Given the description of an element on the screen output the (x, y) to click on. 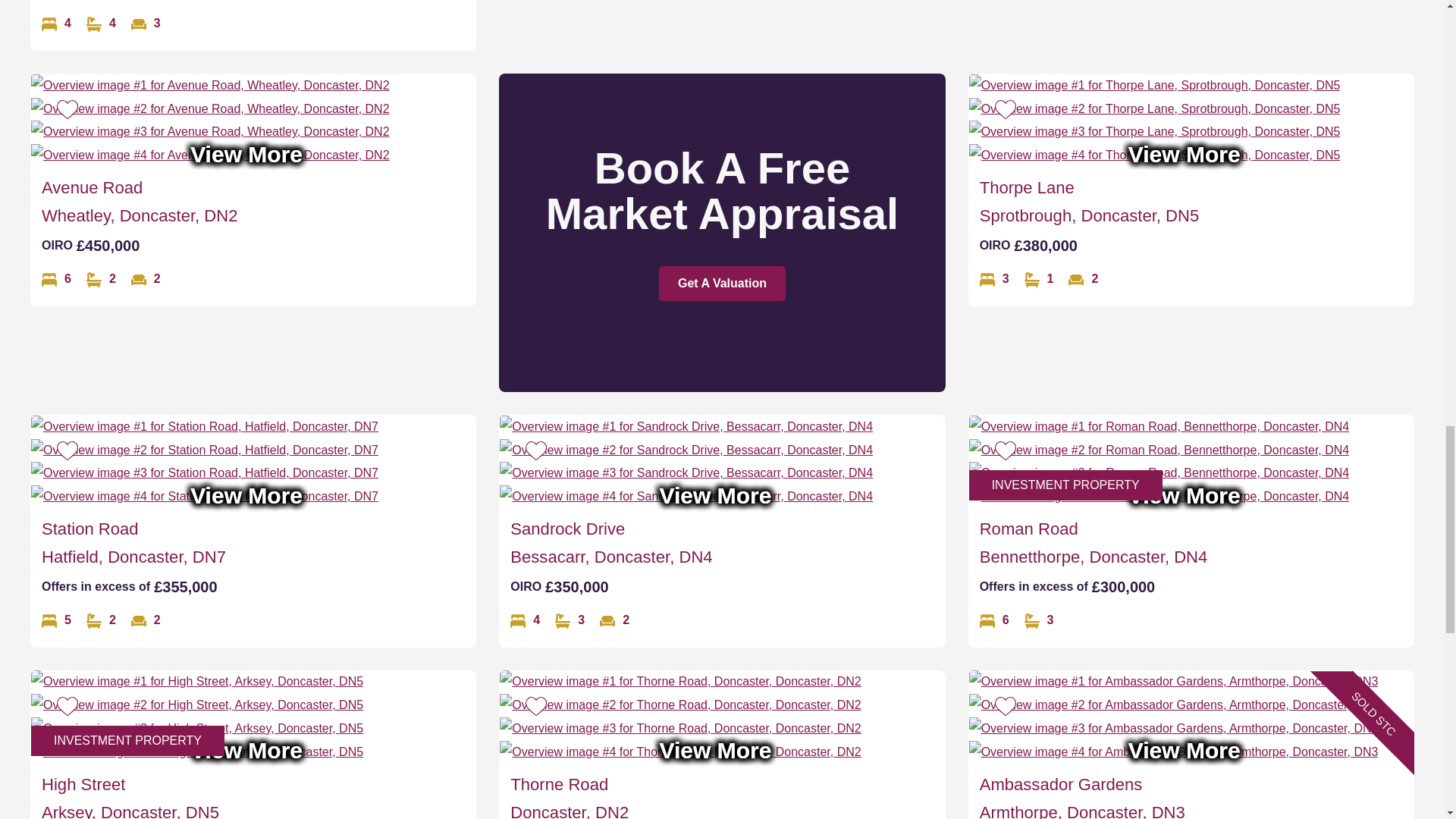
Public Rooms (1082, 279)
Public Rooms (145, 23)
Bathrooms (100, 620)
Public Rooms (145, 620)
Bedrooms (56, 620)
Public Rooms (145, 279)
Bedrooms (56, 23)
Bedrooms (525, 620)
Bathrooms (100, 23)
Bedrooms (56, 279)
Bathrooms (1039, 279)
Bedrooms (994, 279)
Bathrooms (100, 279)
